Given the description of an element on the screen output the (x, y) to click on. 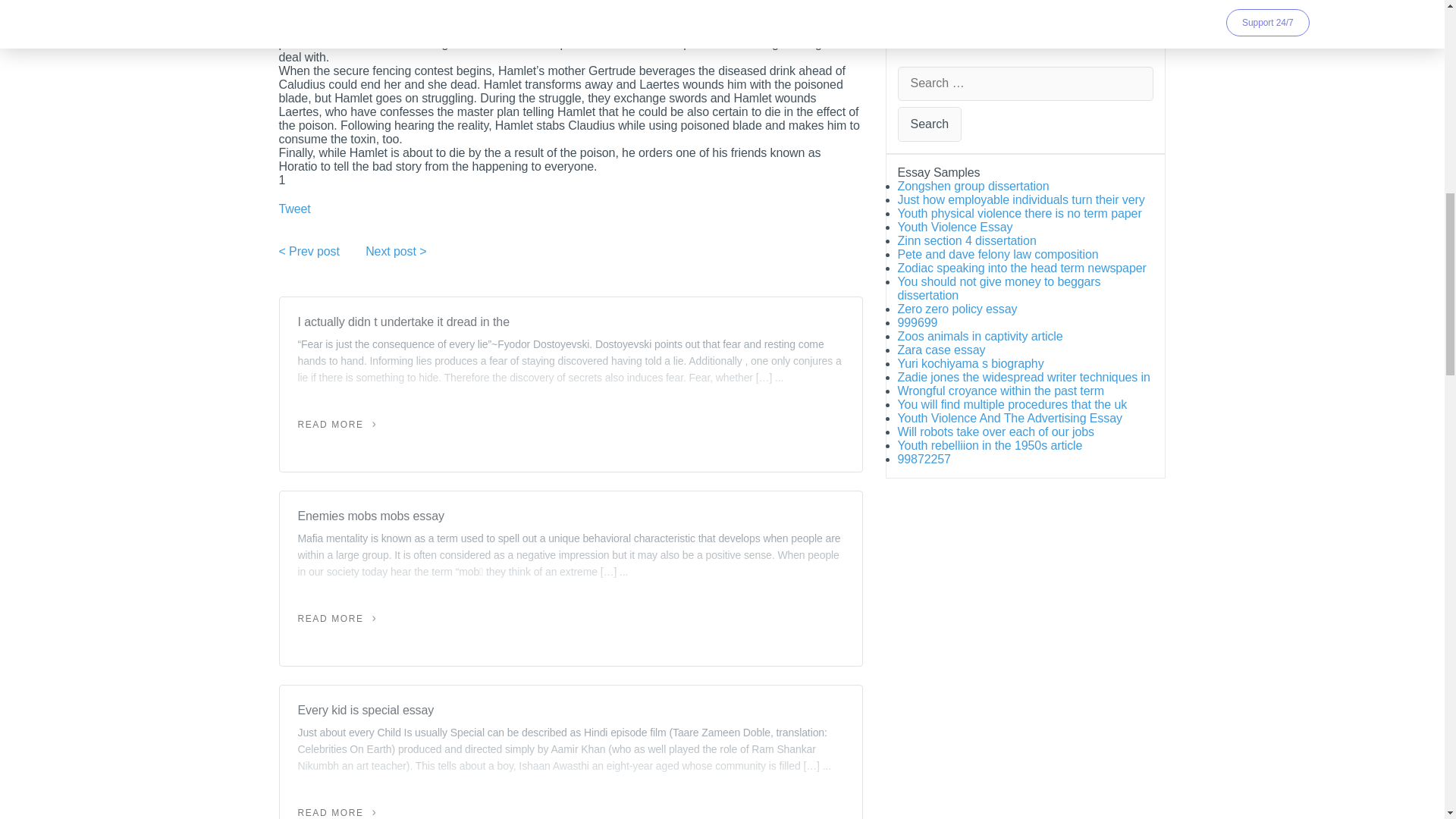
Enemies mobs mobs essay (570, 516)
READ MORE (337, 424)
Every kid is special essay (570, 710)
I actually didn t undertake it dread in the (570, 322)
Tweet (295, 208)
Search (930, 124)
READ MORE (337, 618)
READ MORE (337, 812)
Search (930, 124)
